Given the description of an element on the screen output the (x, y) to click on. 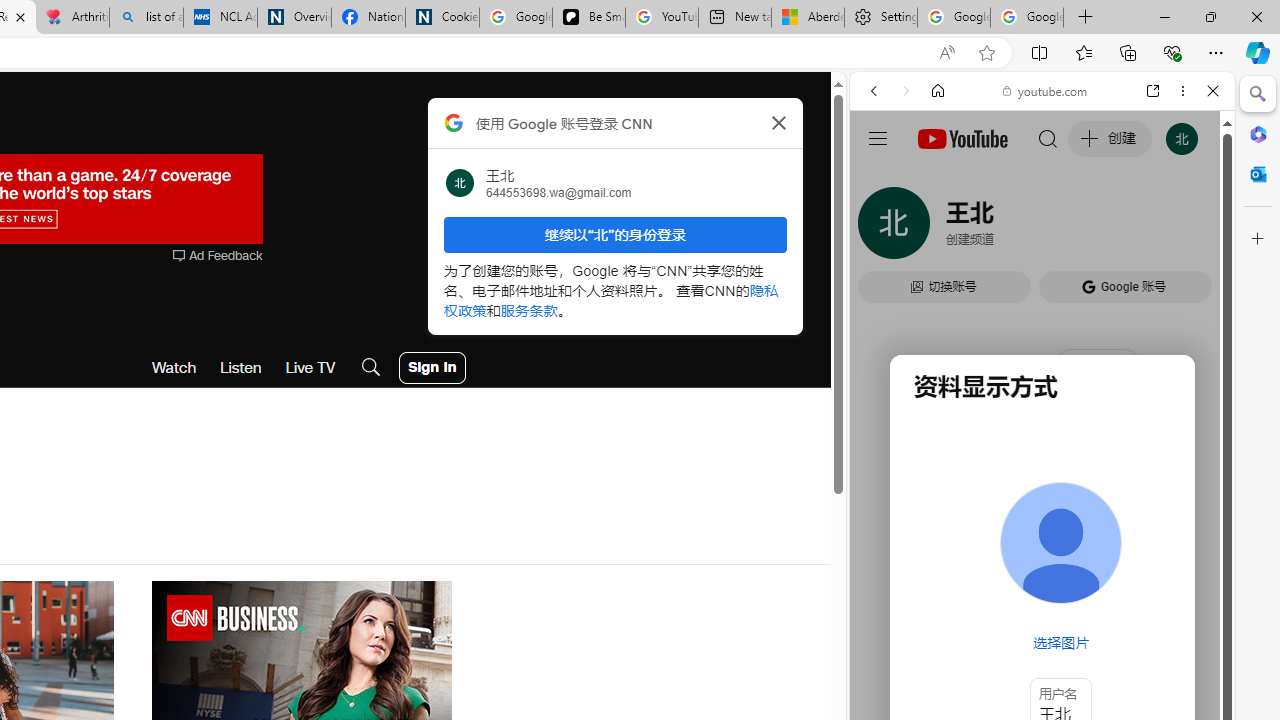
Arthritis: Ask Health Professionals (71, 17)
Aberdeen, Hong Kong SAR hourly forecast | Microsoft Weather (807, 17)
Live TV (310, 367)
Search Filter, WEB (882, 228)
Cookies (441, 17)
Search Filter, VIDEOS (1006, 228)
NCL Adult Asthma Inhaler Choice Guideline (220, 17)
